Given the description of an element on the screen output the (x, y) to click on. 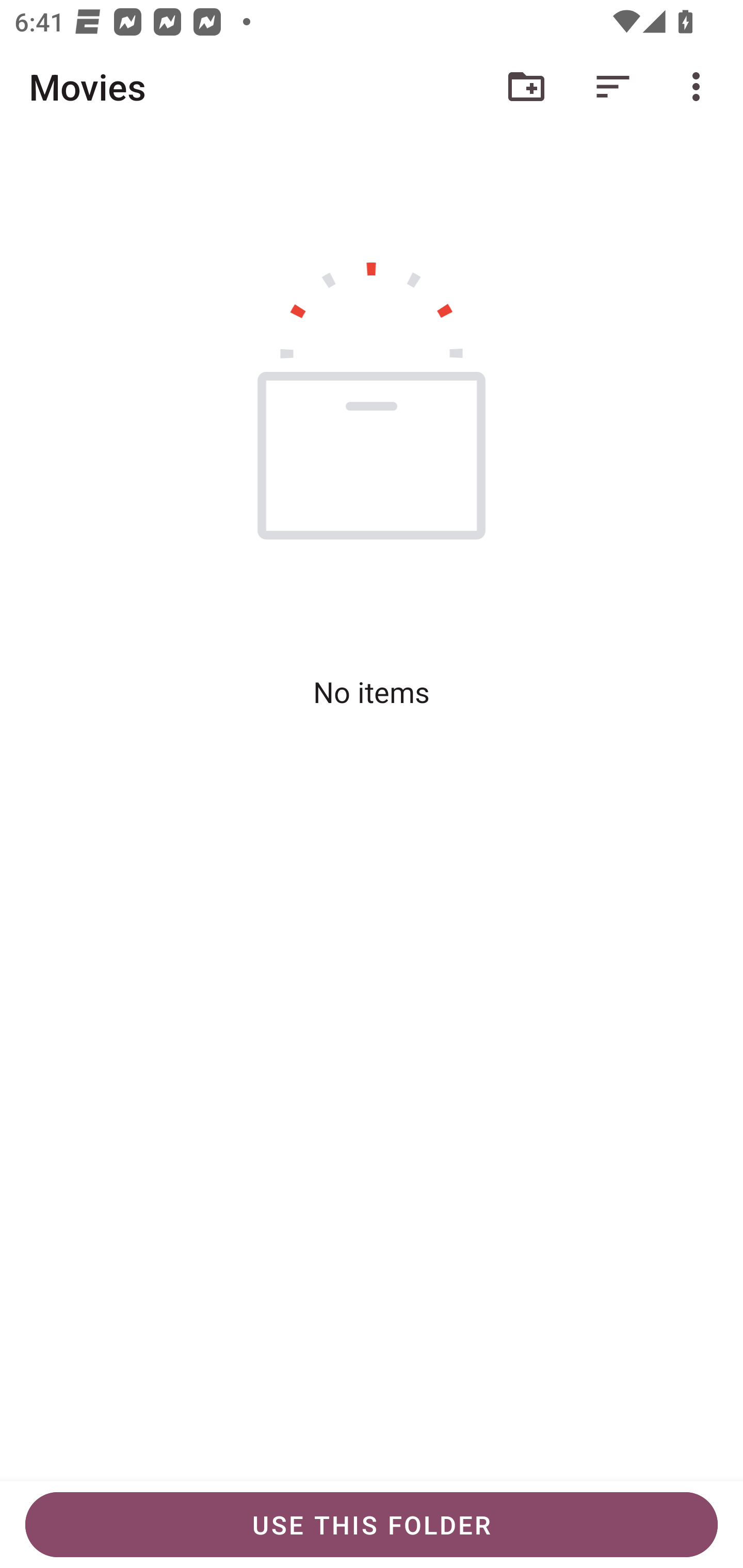
New folder (525, 86)
Sort by... (612, 86)
More options (699, 86)
USE THIS FOLDER (371, 1524)
